Given the description of an element on the screen output the (x, y) to click on. 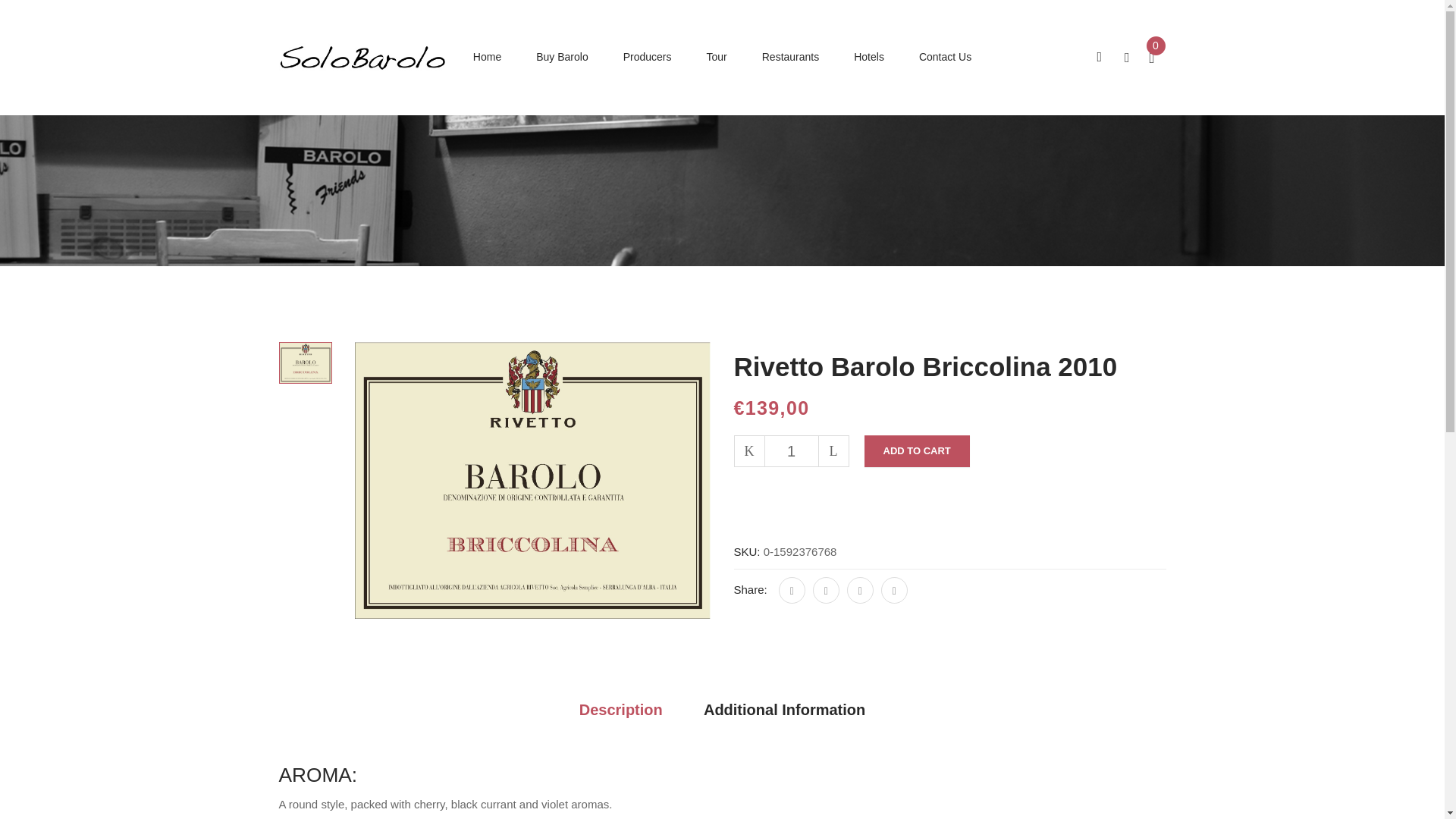
Pinterest (893, 590)
Home (486, 56)
LinkedIn (860, 590)
ADD TO CART (916, 450)
Twitter (826, 590)
Description (620, 709)
Wine Producers (647, 56)
Buy Barolo (561, 56)
images (304, 363)
Producers (647, 56)
Restaurants (789, 56)
Restaurants (789, 56)
Buy Barolo (561, 56)
Additional Information (783, 709)
Facebook (791, 590)
